Given the description of an element on the screen output the (x, y) to click on. 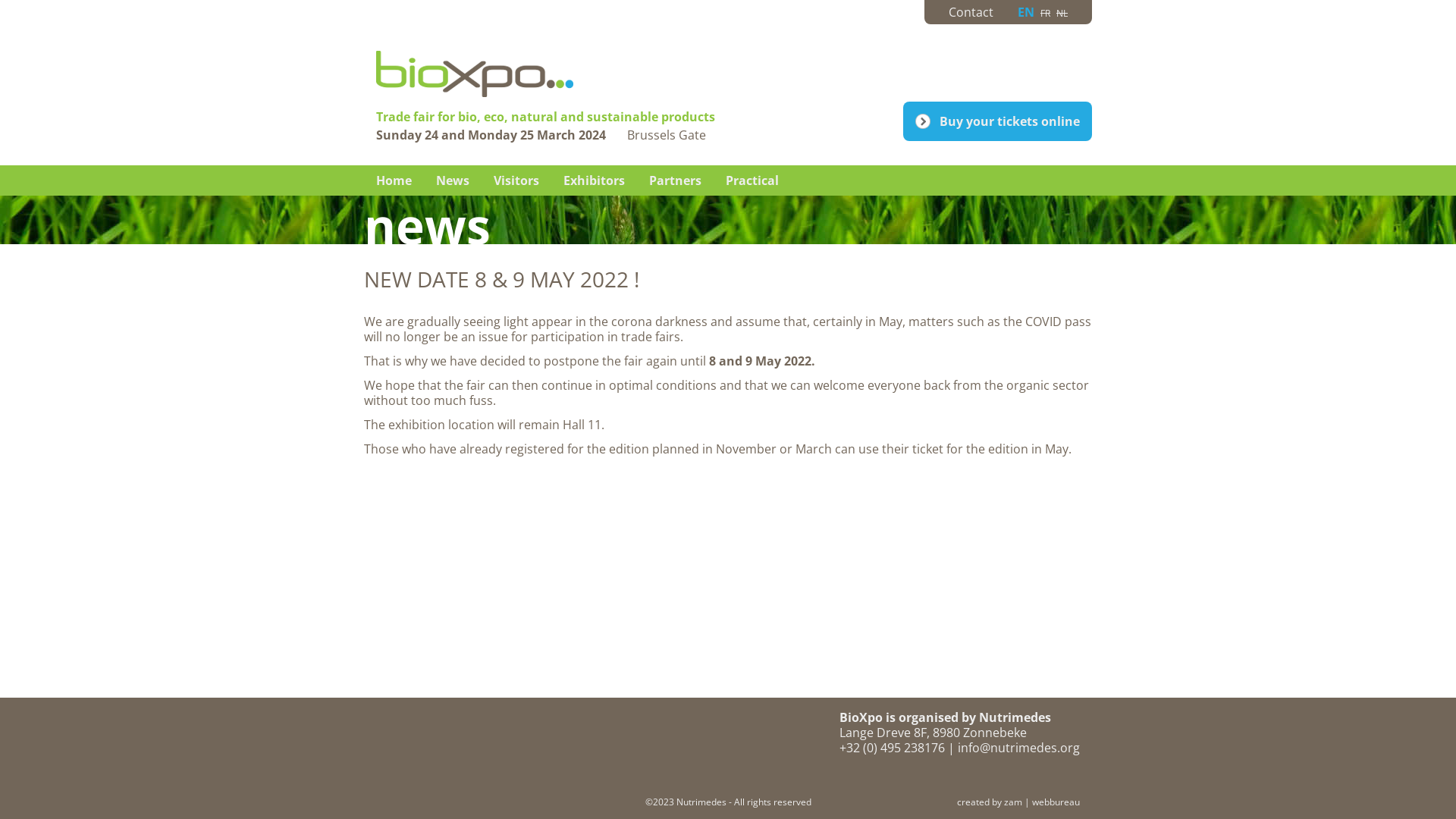
zam | webbureau Element type: text (1041, 801)
Skip to main content Element type: text (59, 0)
Home Element type: hover (609, 92)
info@nutrimedes.org Element type: text (1018, 747)
Buy your tickets online Element type: text (997, 121)
Practical Element type: text (751, 180)
Contact Element type: text (970, 11)
Visitors Element type: text (516, 180)
Exhibitors Element type: text (594, 180)
Partners Element type: text (675, 180)
EN Element type: text (1025, 11)
Home Element type: text (393, 180)
News Element type: text (452, 180)
